Given the description of an element on the screen output the (x, y) to click on. 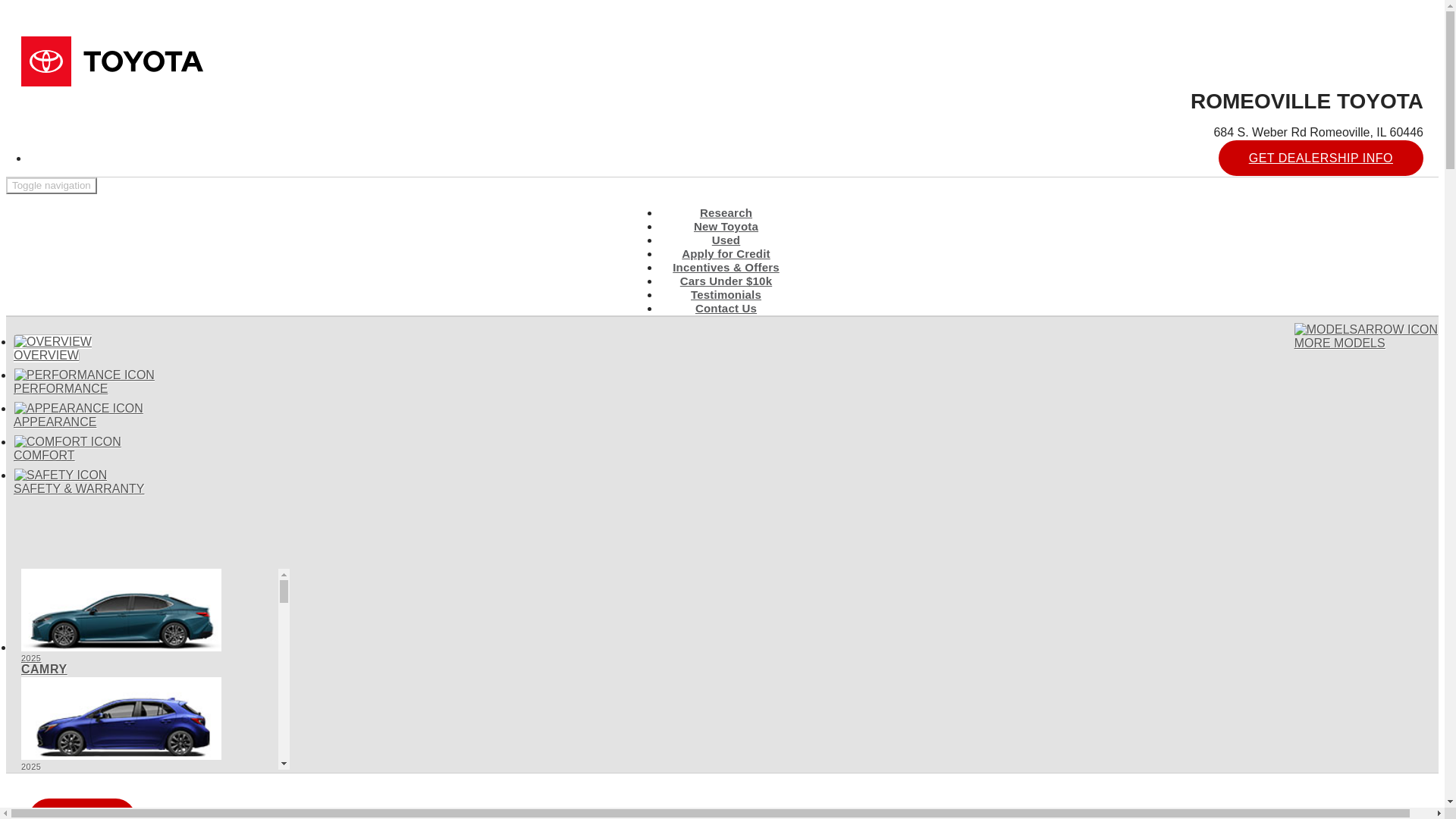
New Toyota (726, 226)
COMFORT (66, 448)
GET DEALERSHIP INFO (1320, 158)
PERFORMANCE (83, 381)
Research (726, 212)
MORE MODELS (1366, 336)
APPEARANCE (77, 415)
Testimonials (145, 622)
OVERVIEW (725, 294)
